Given the description of an element on the screen output the (x, y) to click on. 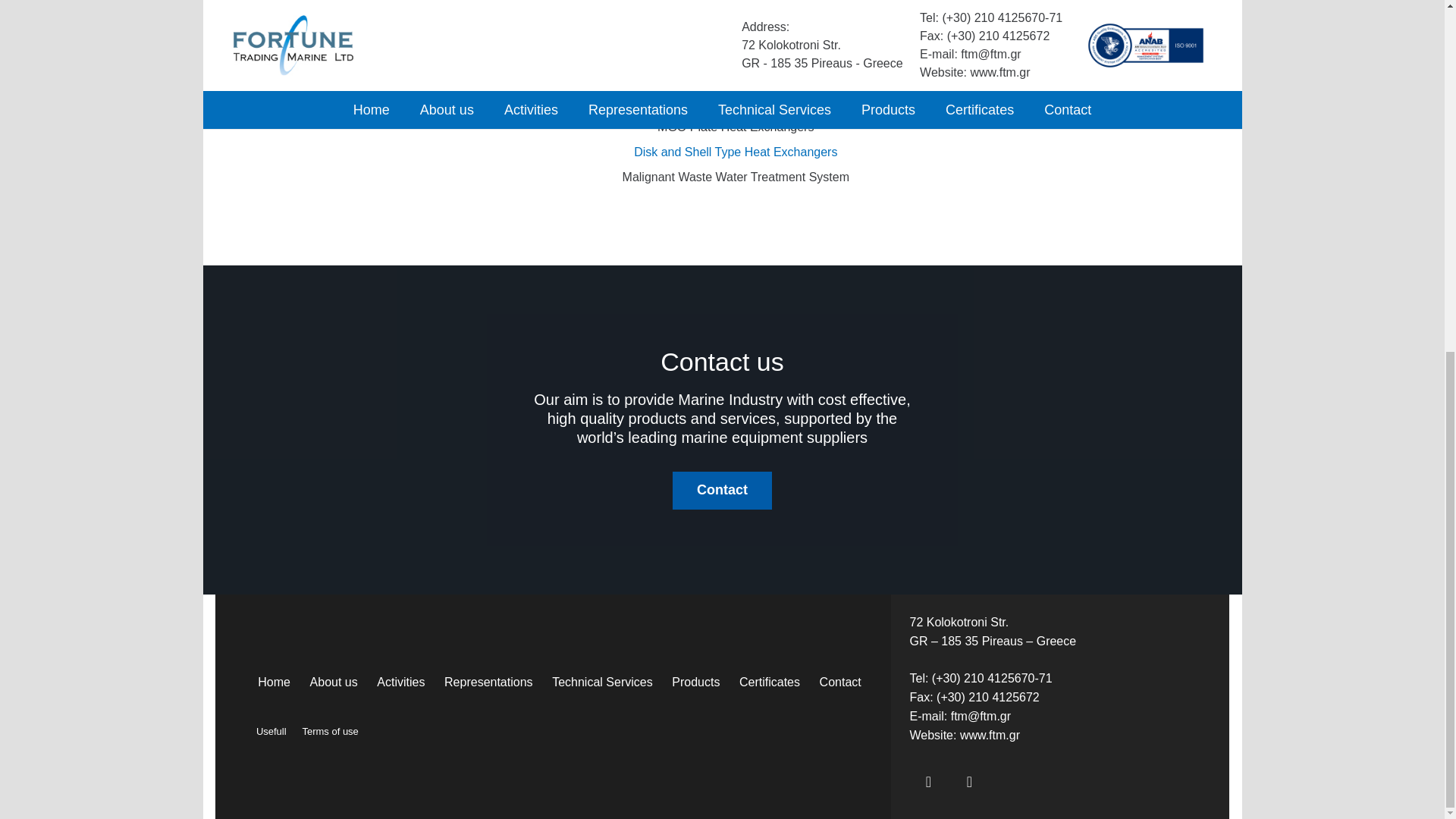
Home (273, 681)
About us (333, 681)
Activities (401, 681)
Disk and Shell Type Heat Exchangers (735, 151)
Representations (487, 681)
Plate Heat Exchangers (734, 101)
Contact (722, 490)
